Given the description of an element on the screen output the (x, y) to click on. 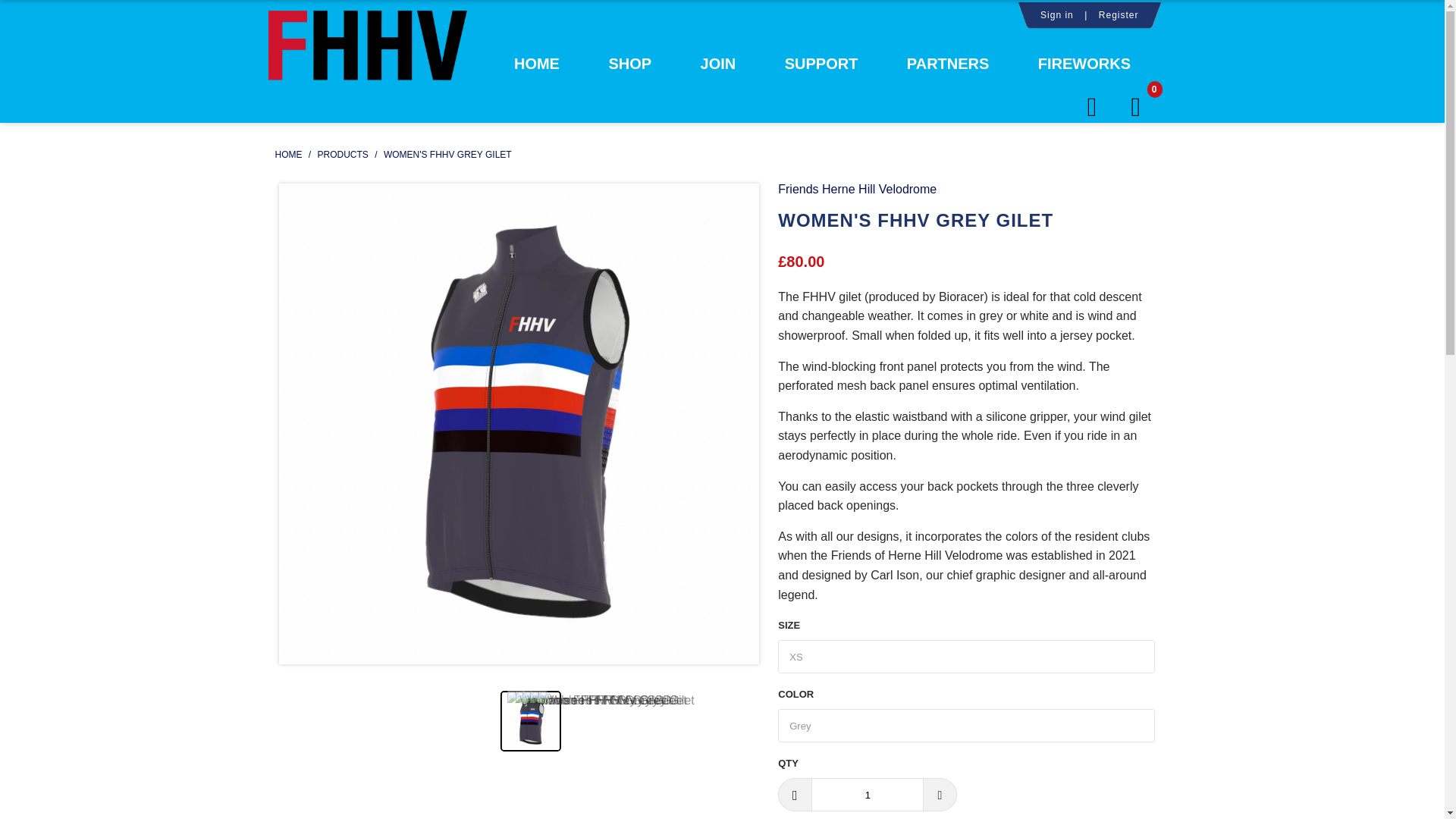
SUPPORT (821, 68)
Friends Herne Hill Velodrome (856, 188)
Register (1118, 15)
Products (344, 154)
SHOP (629, 68)
PARTNERS (948, 68)
Friends of Herne Hill Velodrome (366, 62)
HOME (536, 68)
FIREWORKS (1084, 68)
0 (1140, 107)
